Given the description of an element on the screen output the (x, y) to click on. 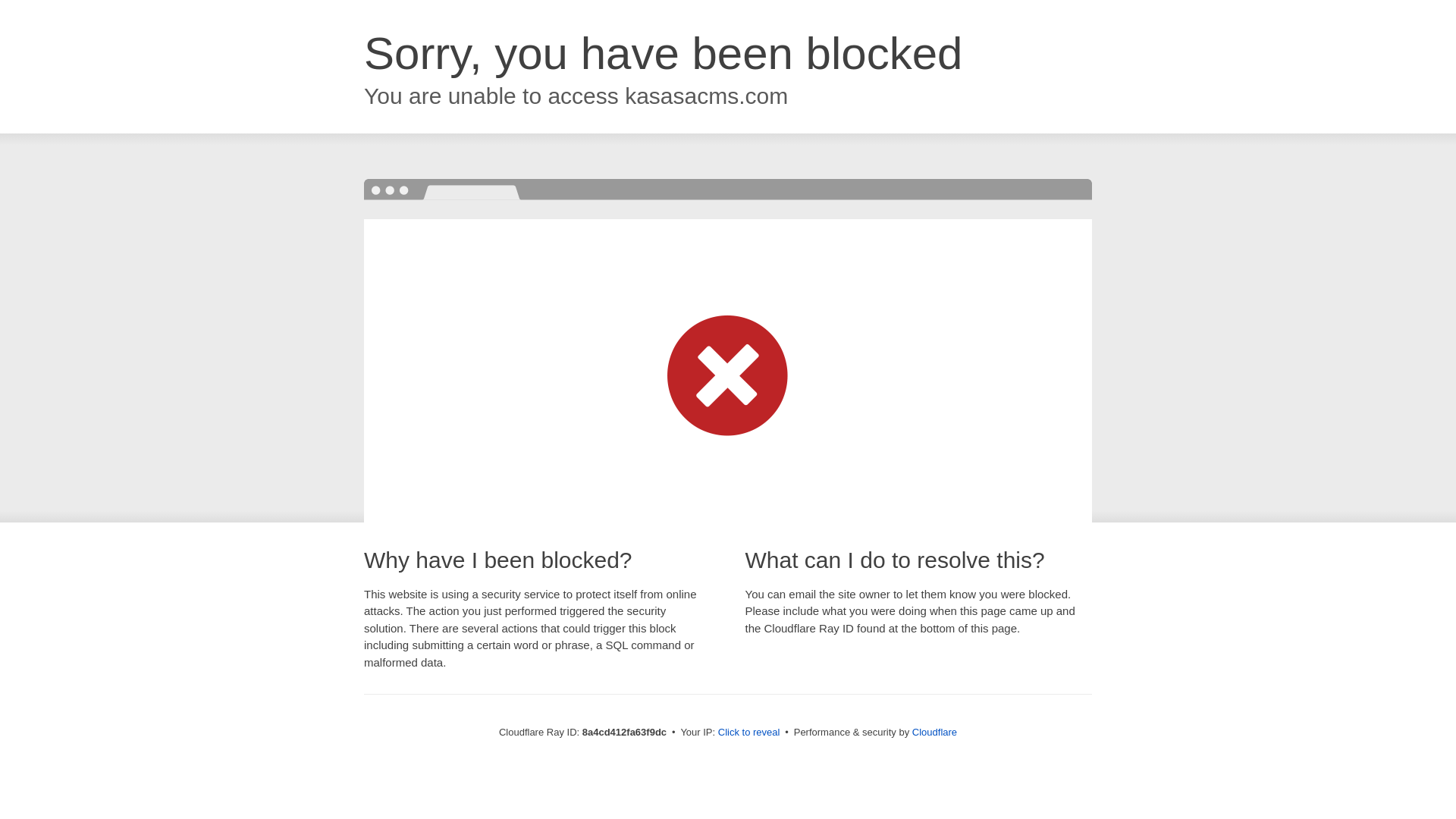
Click to reveal (748, 732)
Cloudflare (934, 731)
